Given the description of an element on the screen output the (x, y) to click on. 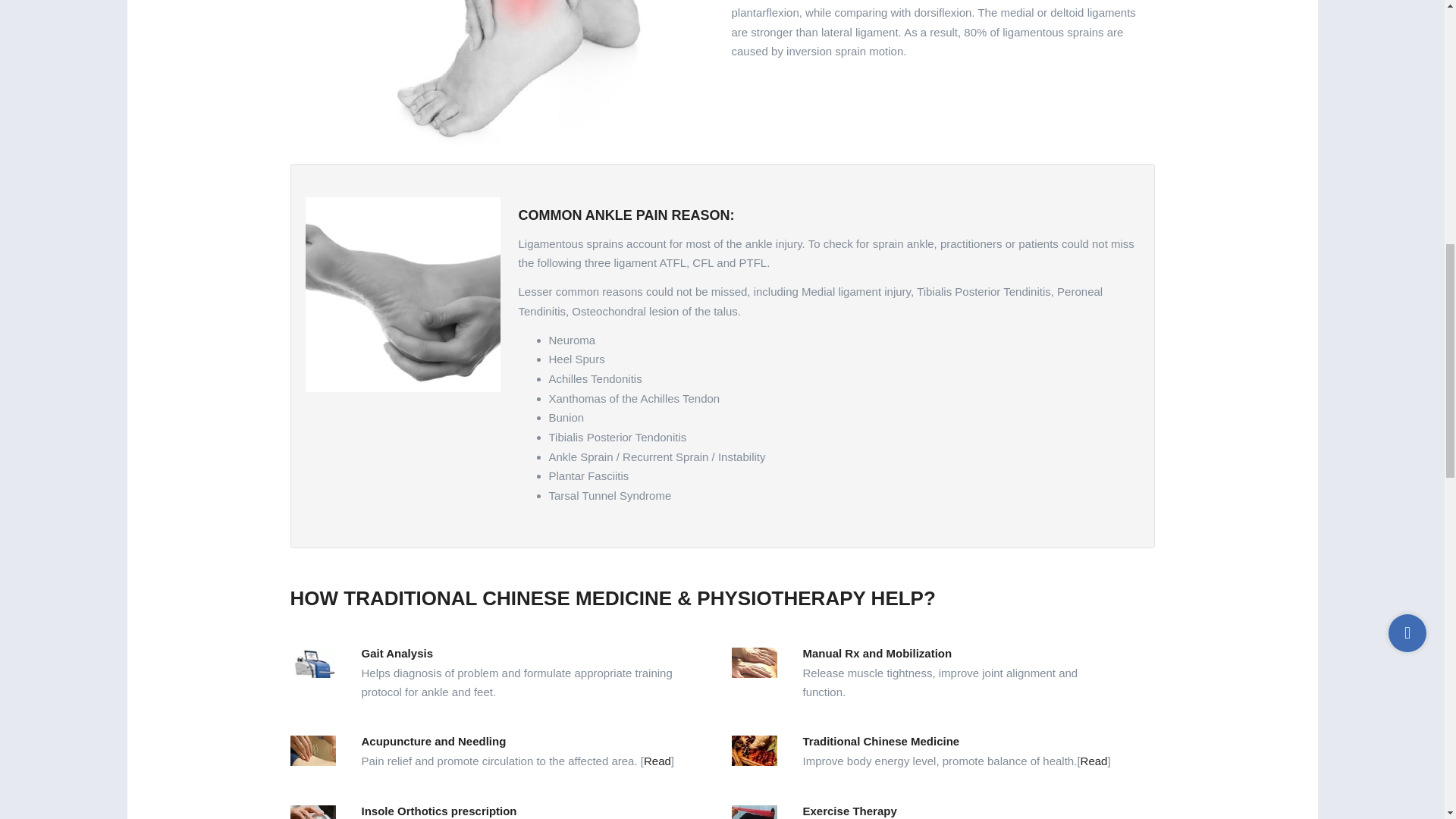
Feet and Heel Pain  (401, 294)
